Given the description of an element on the screen output the (x, y) to click on. 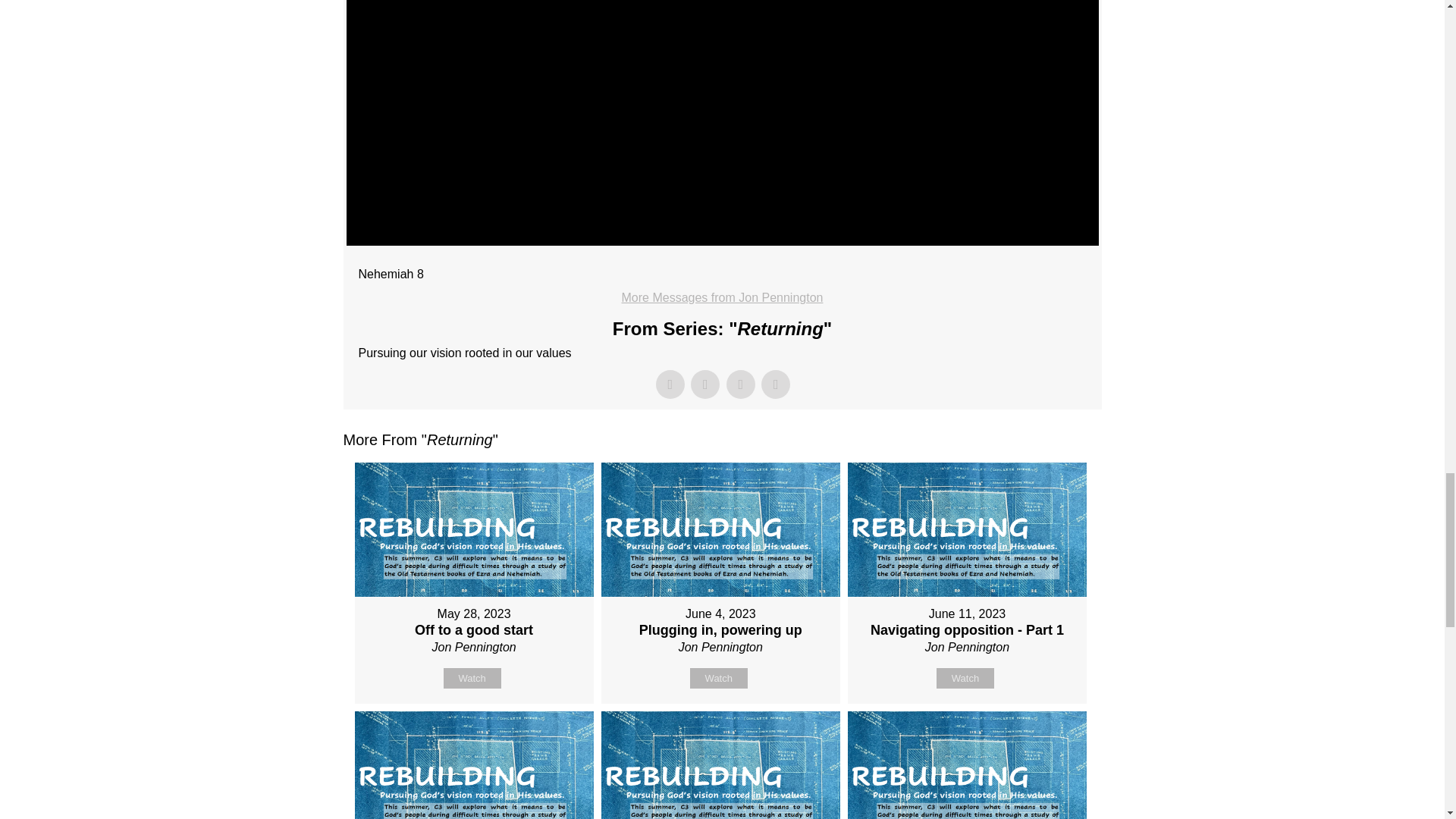
Watch (472, 678)
Watch (719, 678)
More Messages from Jon Pennington (722, 297)
Watch (965, 678)
